Given the description of an element on the screen output the (x, y) to click on. 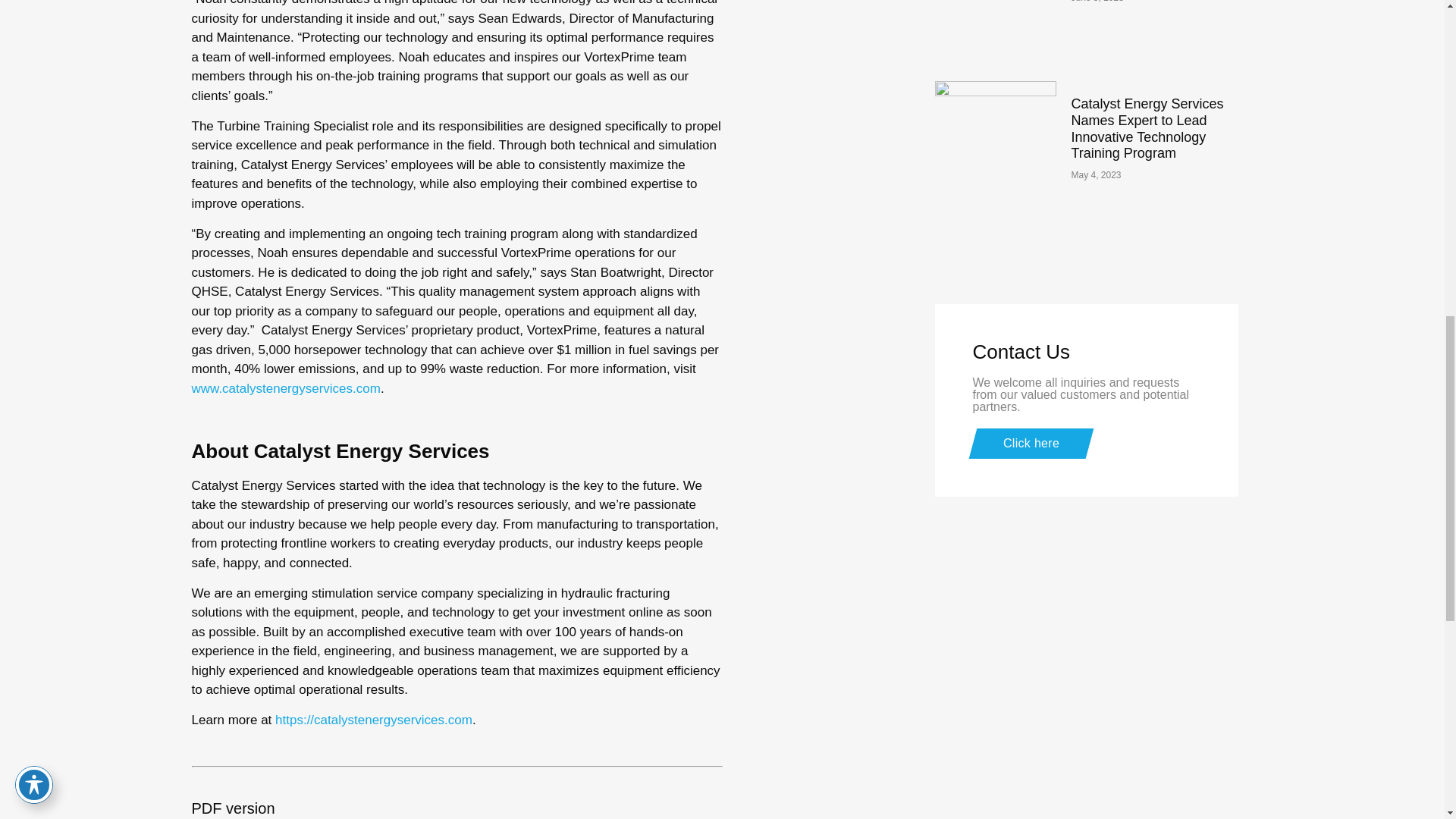
www.catalystenergyservices.com (285, 388)
